Given the description of an element on the screen output the (x, y) to click on. 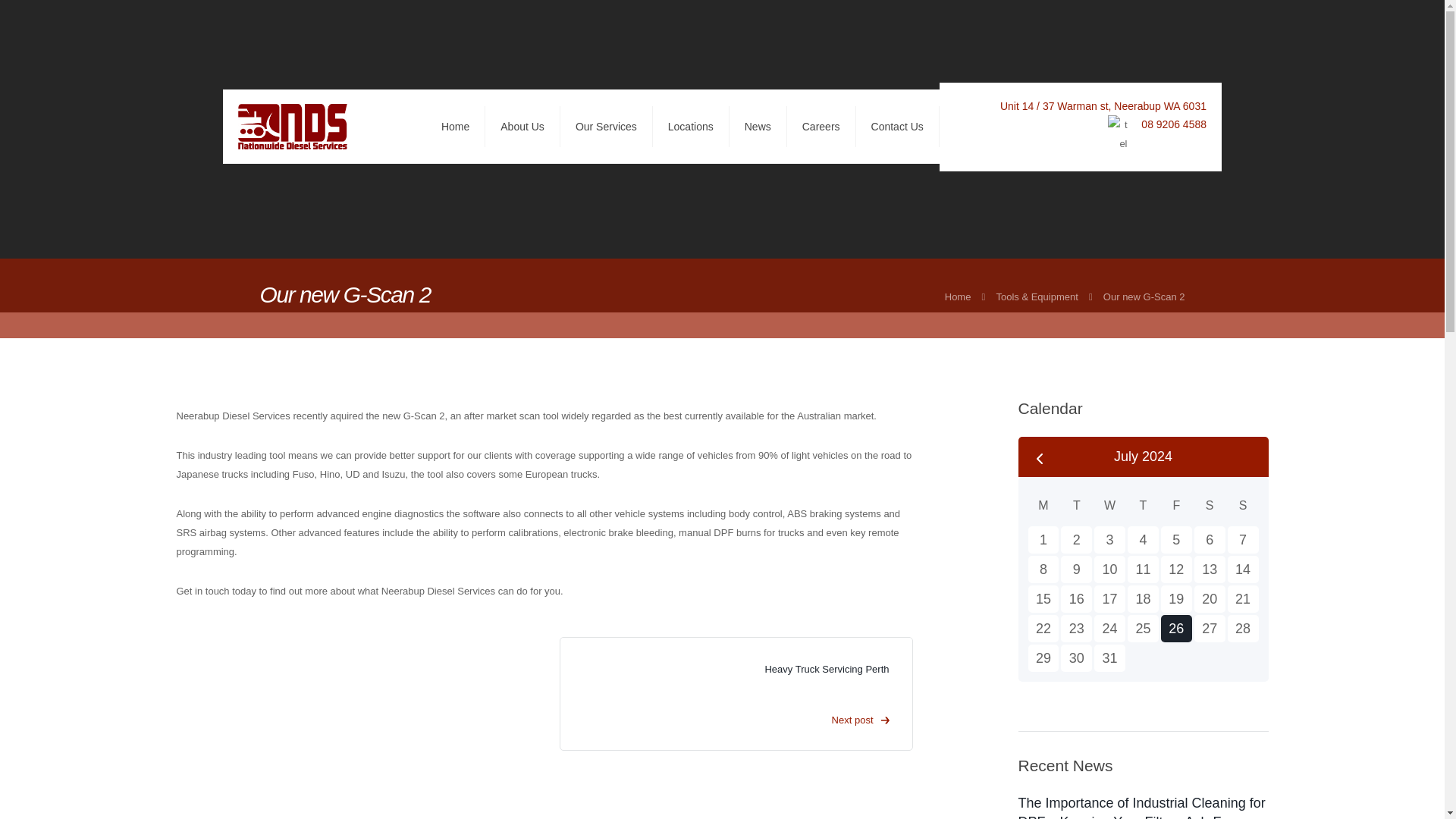
08 9206 4588 (1174, 123)
Careers (821, 126)
Contact Us (897, 126)
News (758, 126)
Home (957, 296)
Home (957, 296)
Next post (736, 719)
Locations (690, 126)
About Us (522, 126)
Heavy Truck Servicing Perth (826, 668)
Our Services (606, 126)
Home (455, 126)
